Given the description of an element on the screen output the (x, y) to click on. 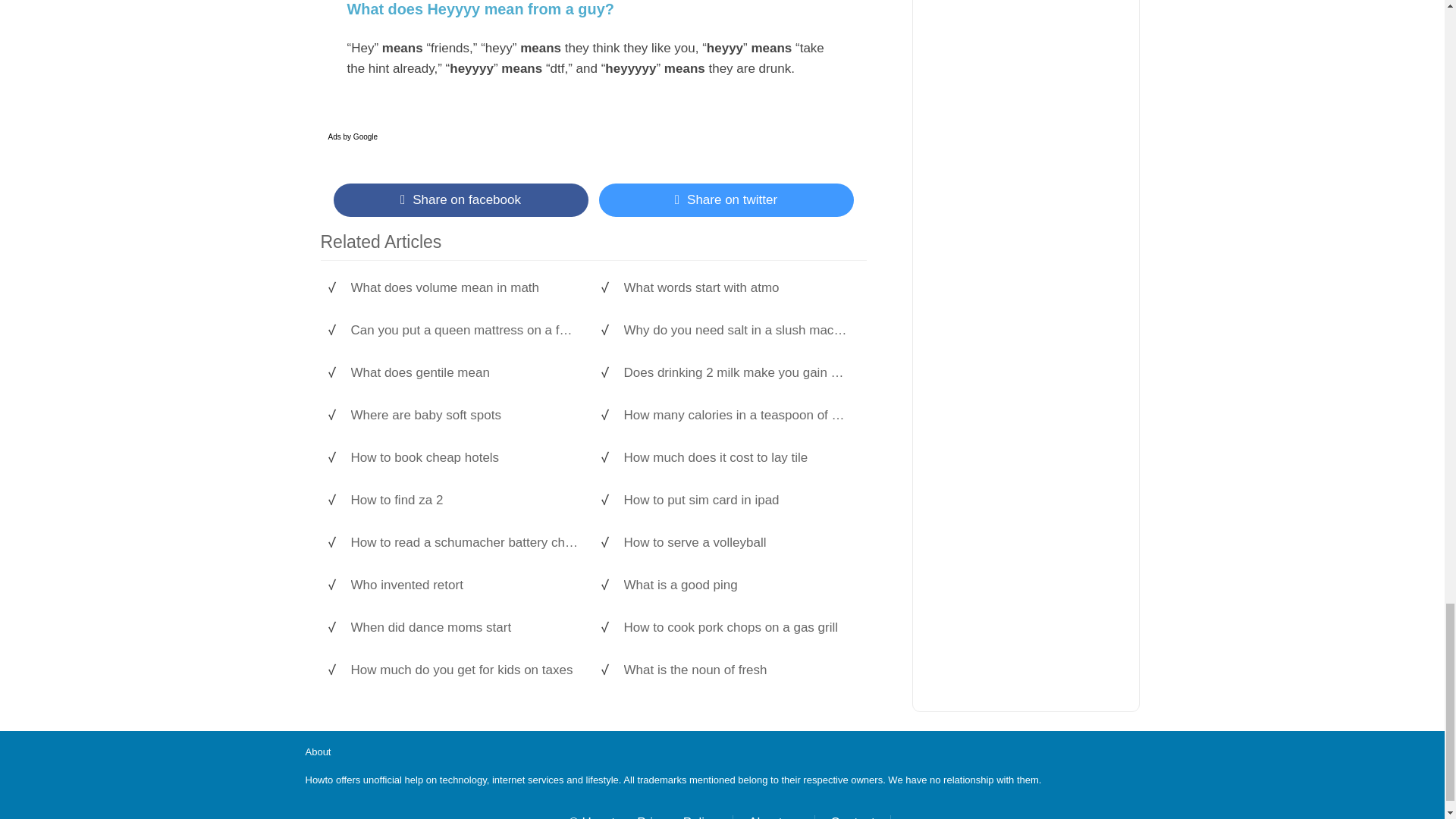
What words start with atmo (736, 287)
How to find za 2 (464, 500)
How to book cheap hotels (464, 458)
What does gentile mean (464, 372)
Why do you need salt in a slush machine (736, 330)
How much does it cost to lay tile (736, 458)
Can you put a queen mattress on a futon frame (464, 330)
What does volume mean in math (464, 287)
Share on Facebook (460, 200)
How to put sim card in ipad (736, 500)
